Given the description of an element on the screen output the (x, y) to click on. 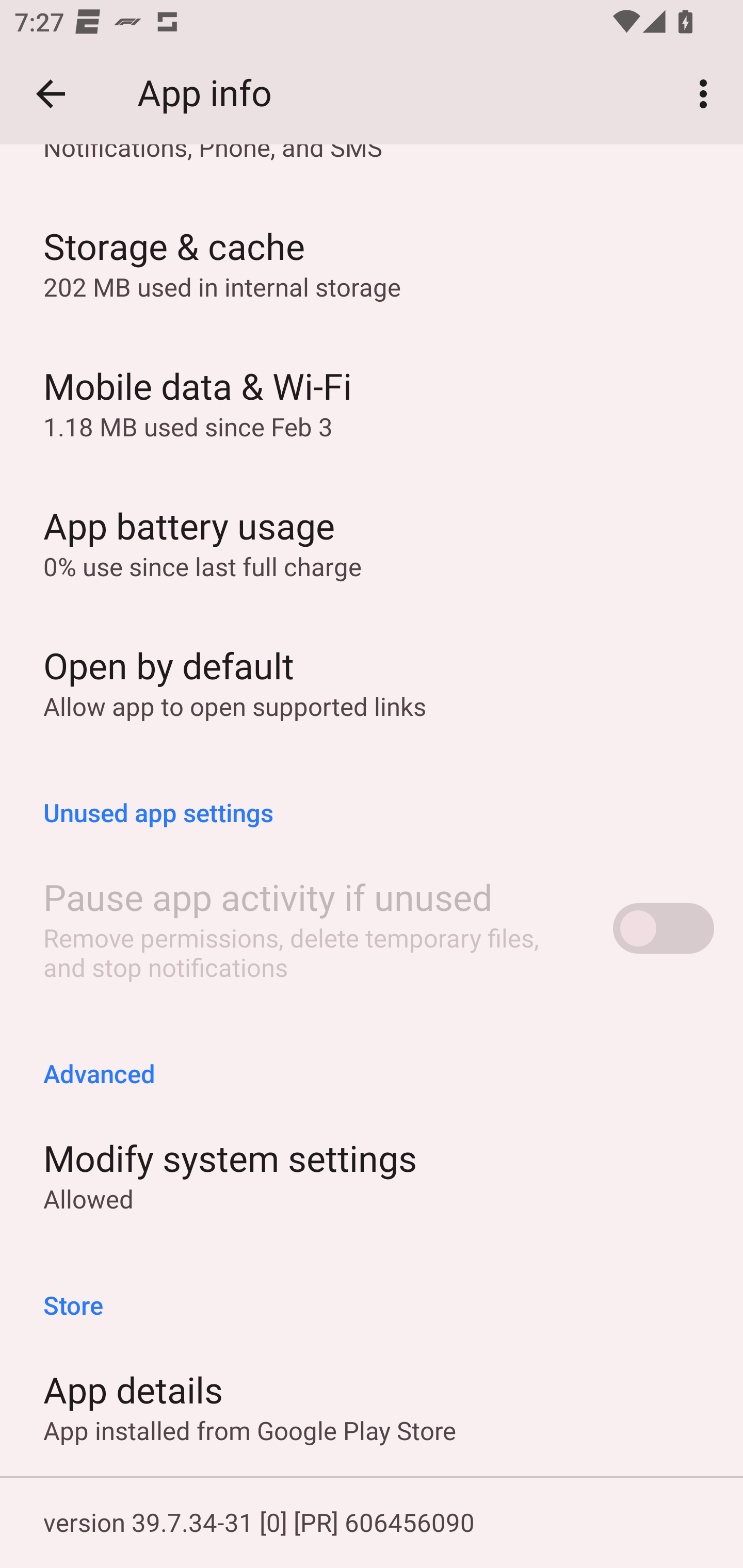
Navigate up (50, 93)
More options (706, 93)
Storage & cache 202 MB used in internal storage (371, 262)
Mobile data & Wi‑Fi 1.18 MB used since Feb 3 (371, 401)
App battery usage 0% use since last full charge (371, 541)
Open by default Allow app to open supported links (371, 681)
Modify system settings Allowed (371, 1174)
App details App installed from Google Play Store (371, 1405)
